Given the description of an element on the screen output the (x, y) to click on. 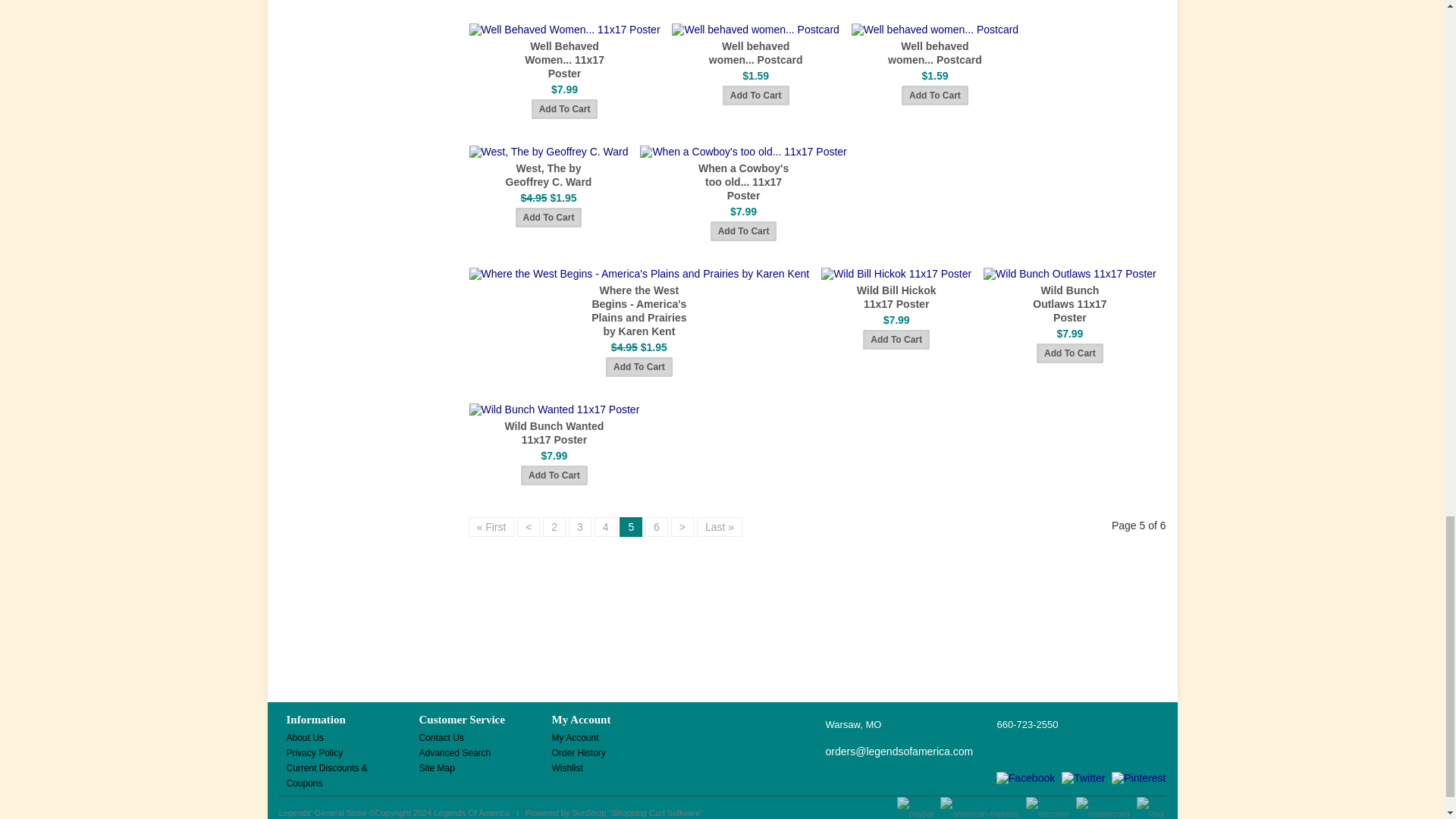
Twitter (1083, 777)
Pinterest (1139, 777)
Add To Cart (934, 95)
Add To Cart (564, 108)
Page 2 of 6 (554, 526)
Page 4 of 6 (605, 526)
Add To Cart (548, 217)
Page 6 of 6 (656, 526)
Ecommerce Shopping Cart Software (655, 812)
Page 3 of 6 (580, 526)
